Given the description of an element on the screen output the (x, y) to click on. 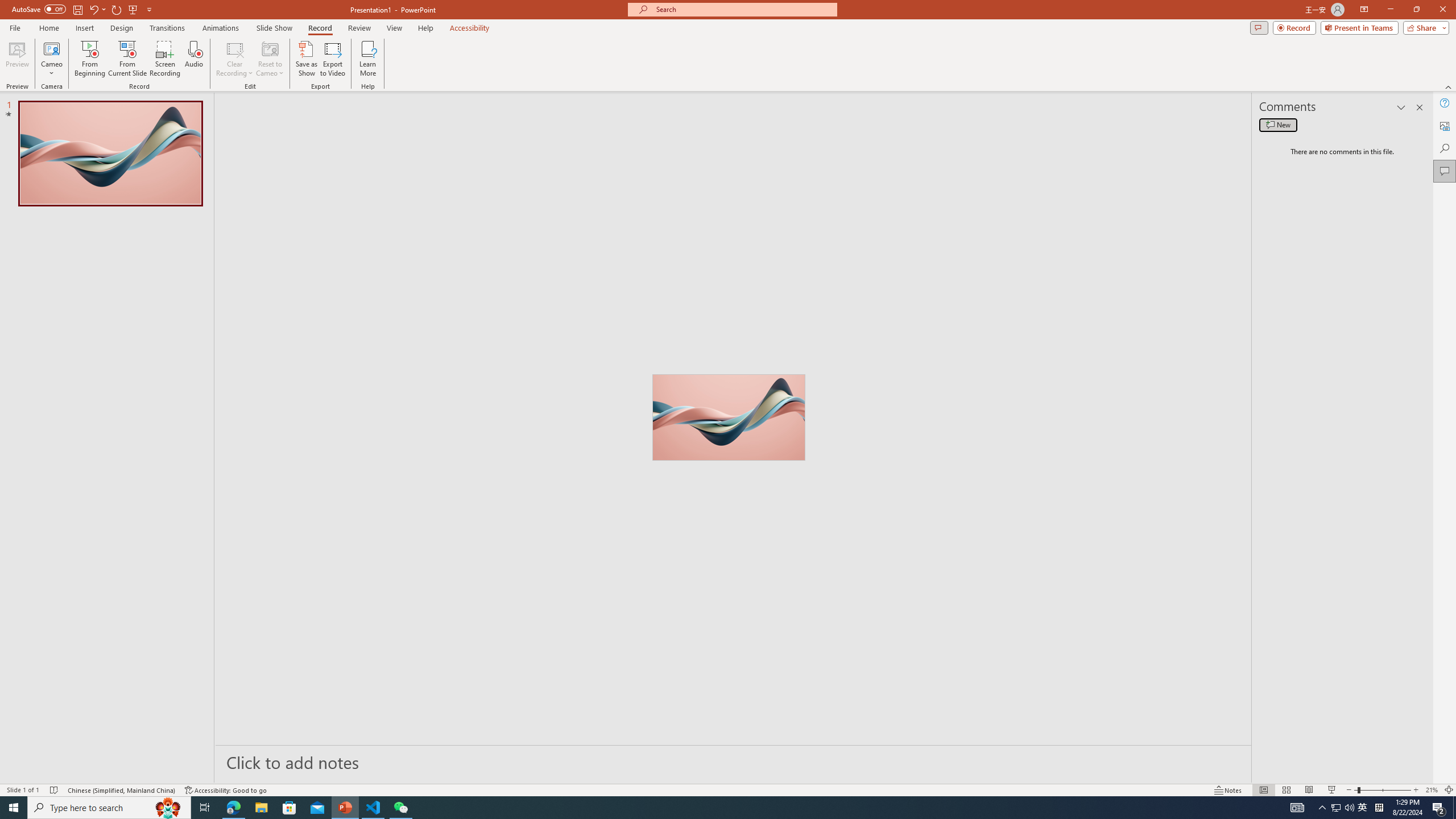
Reset to Cameo (269, 58)
Wavy 3D art (728, 417)
Export to Video (332, 58)
Accessibility Checker Accessibility: Good to go (226, 790)
